Given the description of an element on the screen output the (x, y) to click on. 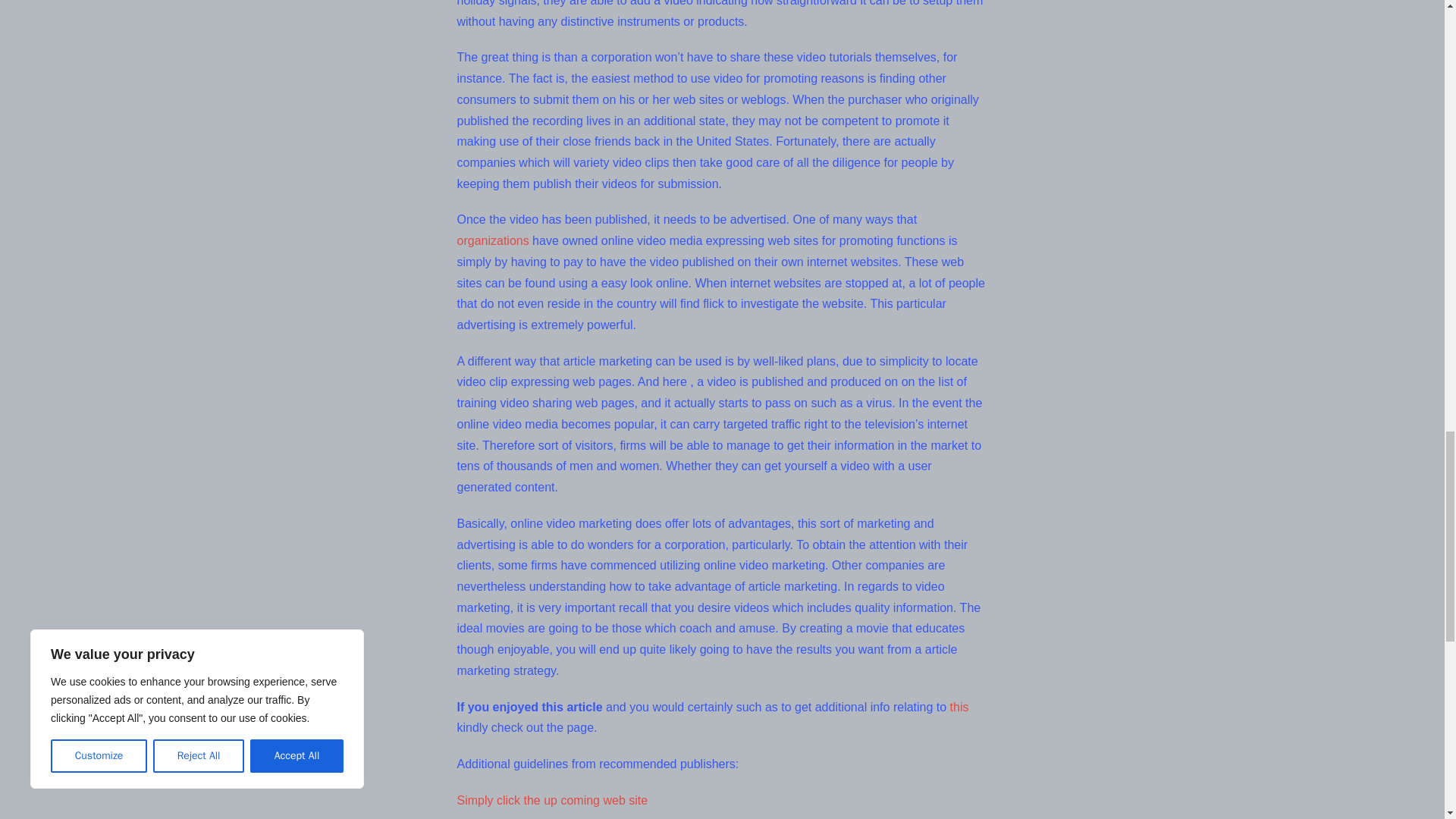
organizations (492, 240)
Simply click the up coming web site (552, 799)
this (959, 707)
